Given the description of an element on the screen output the (x, y) to click on. 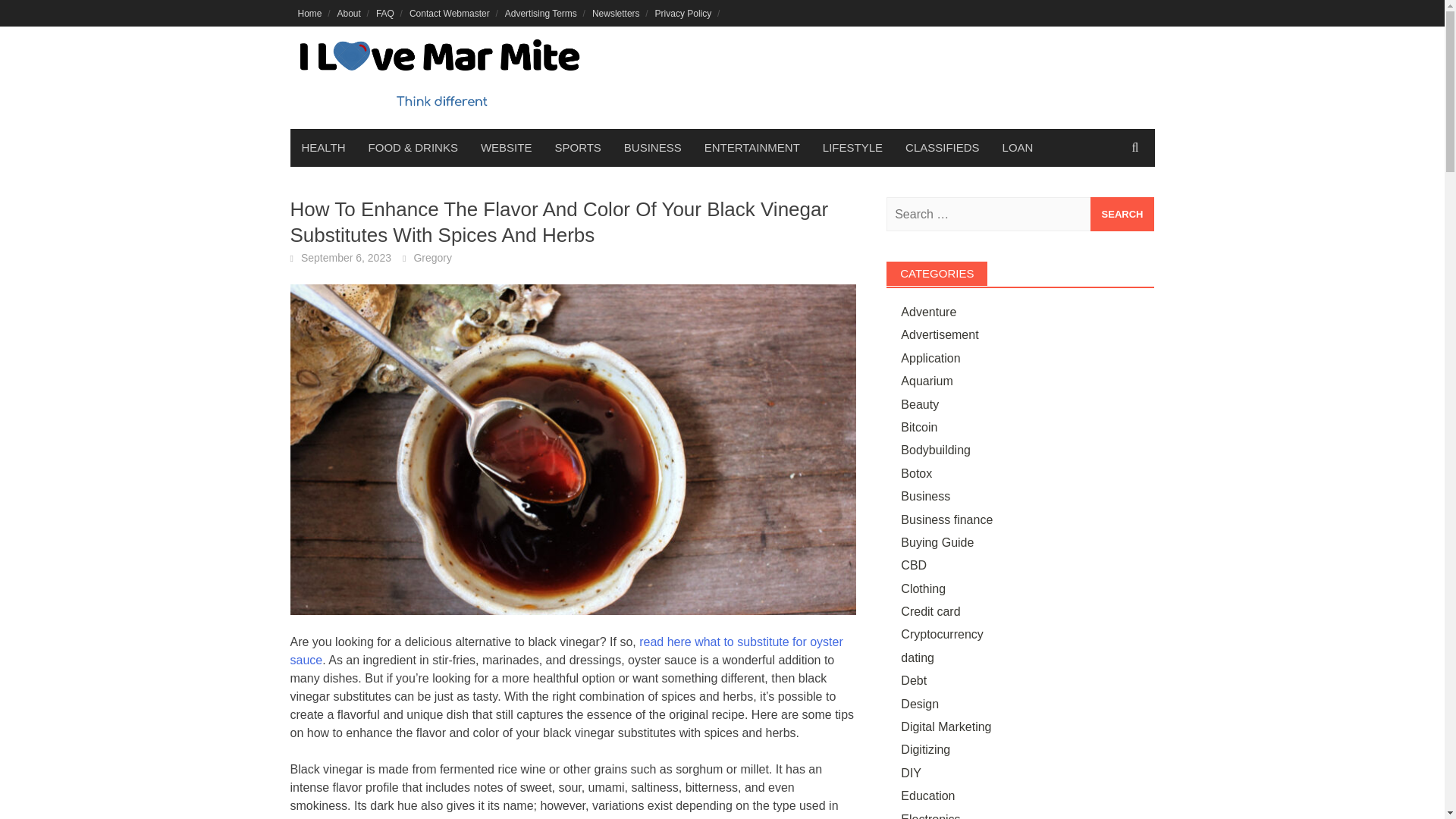
Home (309, 13)
Gregory (432, 257)
read here what to substitute for oyster sauce (566, 650)
About (349, 13)
Search (1122, 213)
HEALTH (322, 147)
Advertising Terms (541, 13)
ENTERTAINMENT (751, 147)
September 6, 2023 (346, 257)
BUSINESS (652, 147)
LIFESTYLE (851, 147)
WEBSITE (505, 147)
FAQ (384, 13)
CLASSIFIEDS (942, 147)
Newsletters (616, 13)
